Given the description of an element on the screen output the (x, y) to click on. 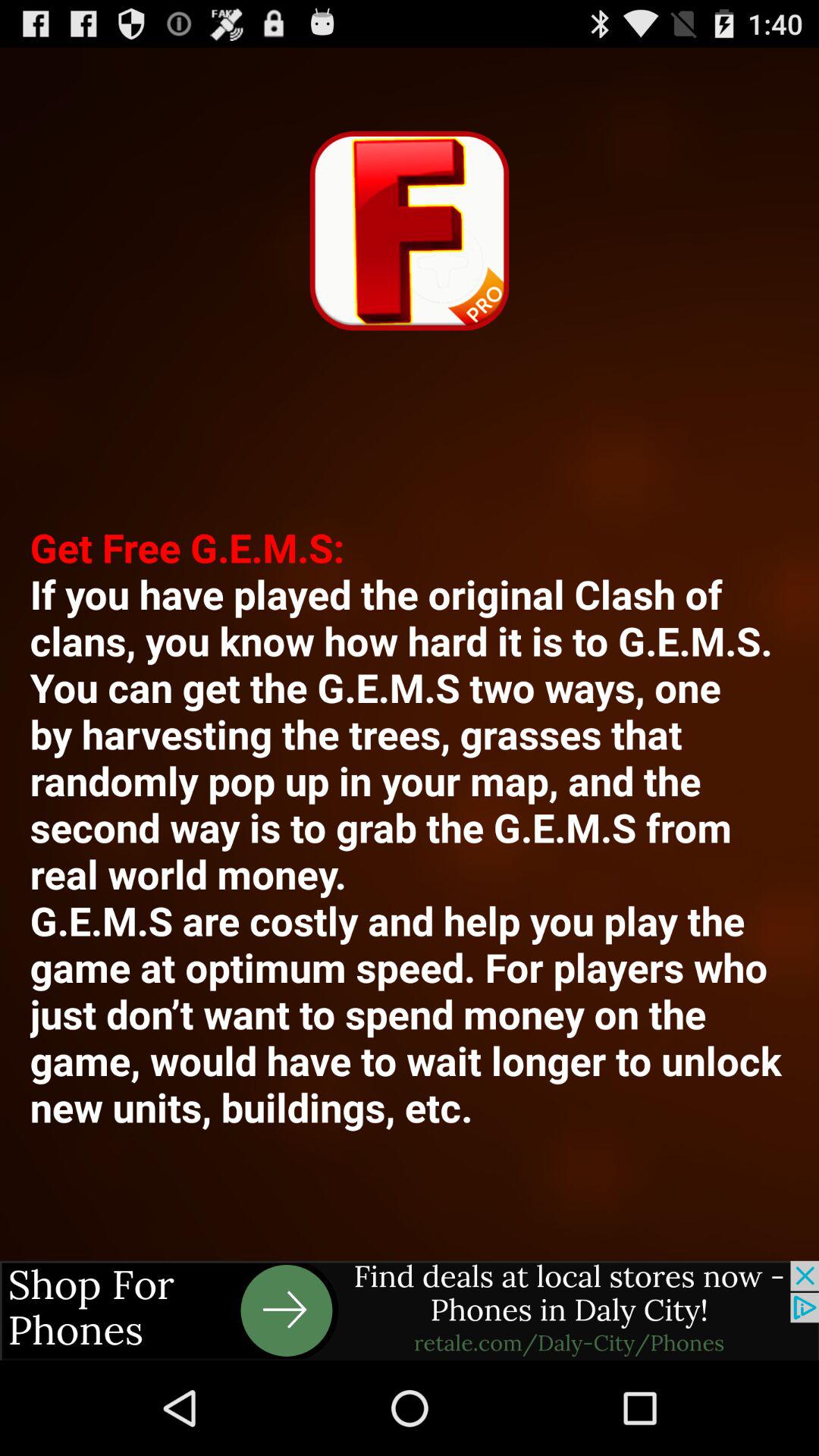
advertising (409, 1310)
